Given the description of an element on the screen output the (x, y) to click on. 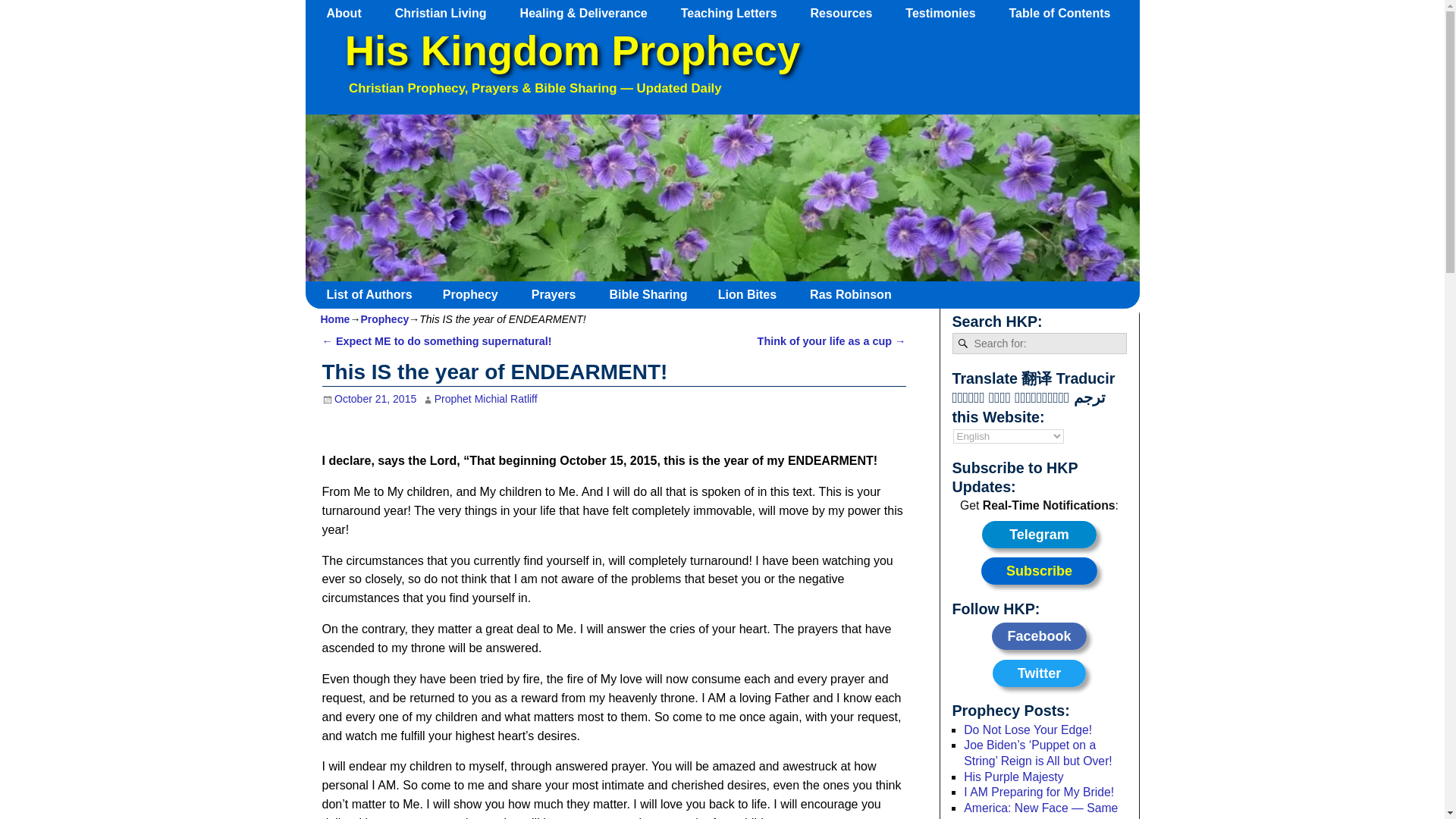
View all posts by Prophet Michial Ratliff (485, 398)
About (351, 13)
Teaching Letters (736, 13)
Table of Contents (1066, 13)
4:11 pm (368, 398)
Christian Living (448, 13)
His Kingdom Prophecy (571, 50)
List of Authors (374, 294)
Resources (849, 13)
His Kingdom Prophecy (571, 50)
Testimonies (947, 13)
